Given the description of an element on the screen output the (x, y) to click on. 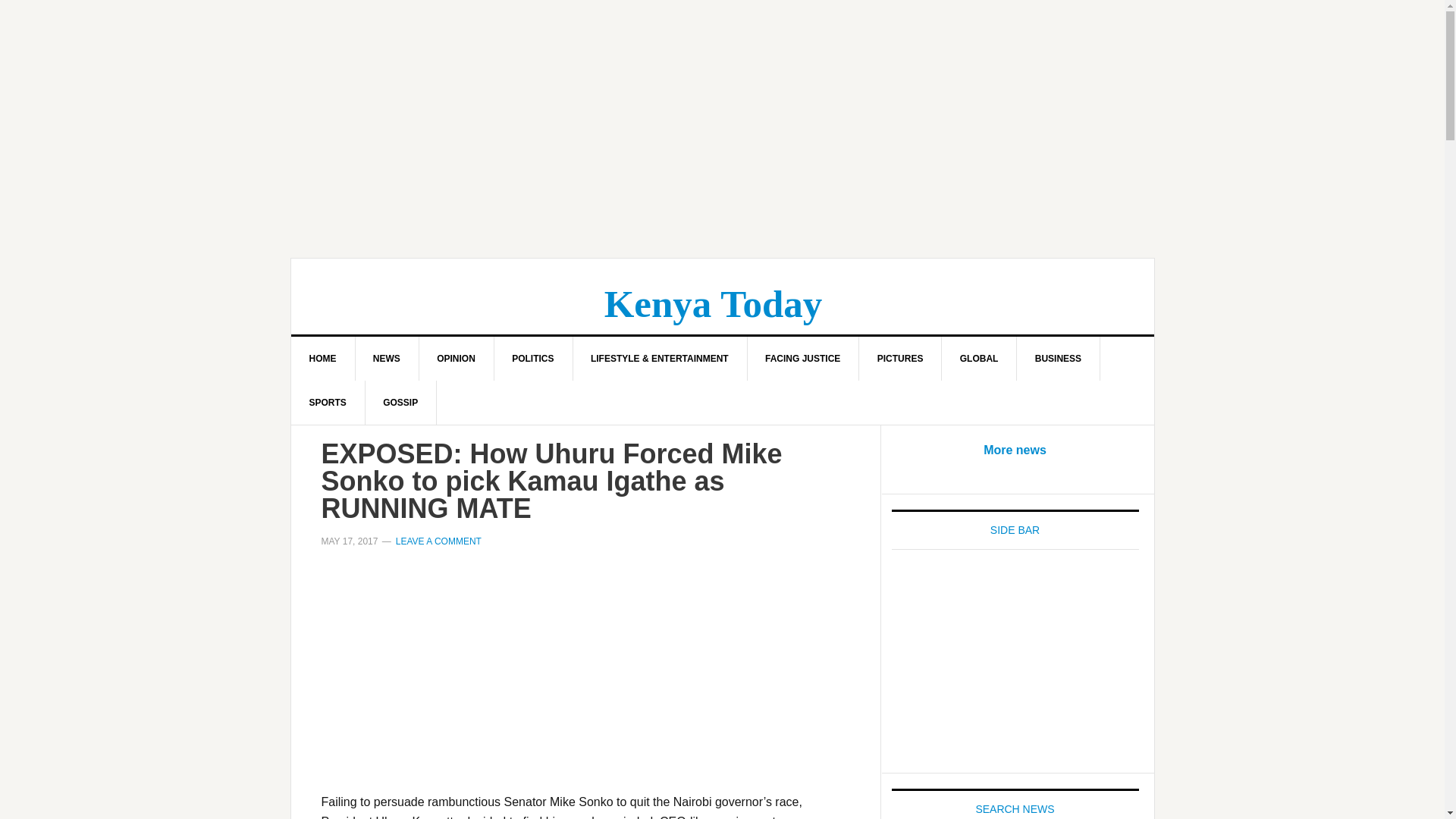
FACING JUSTICE (802, 358)
GLOBAL (979, 358)
Advertisement (1014, 662)
GOSSIP (400, 402)
POLITICS (532, 358)
Advertisement (585, 679)
More news (1015, 449)
OPINION (457, 358)
PICTURES (900, 358)
